Given the description of an element on the screen output the (x, y) to click on. 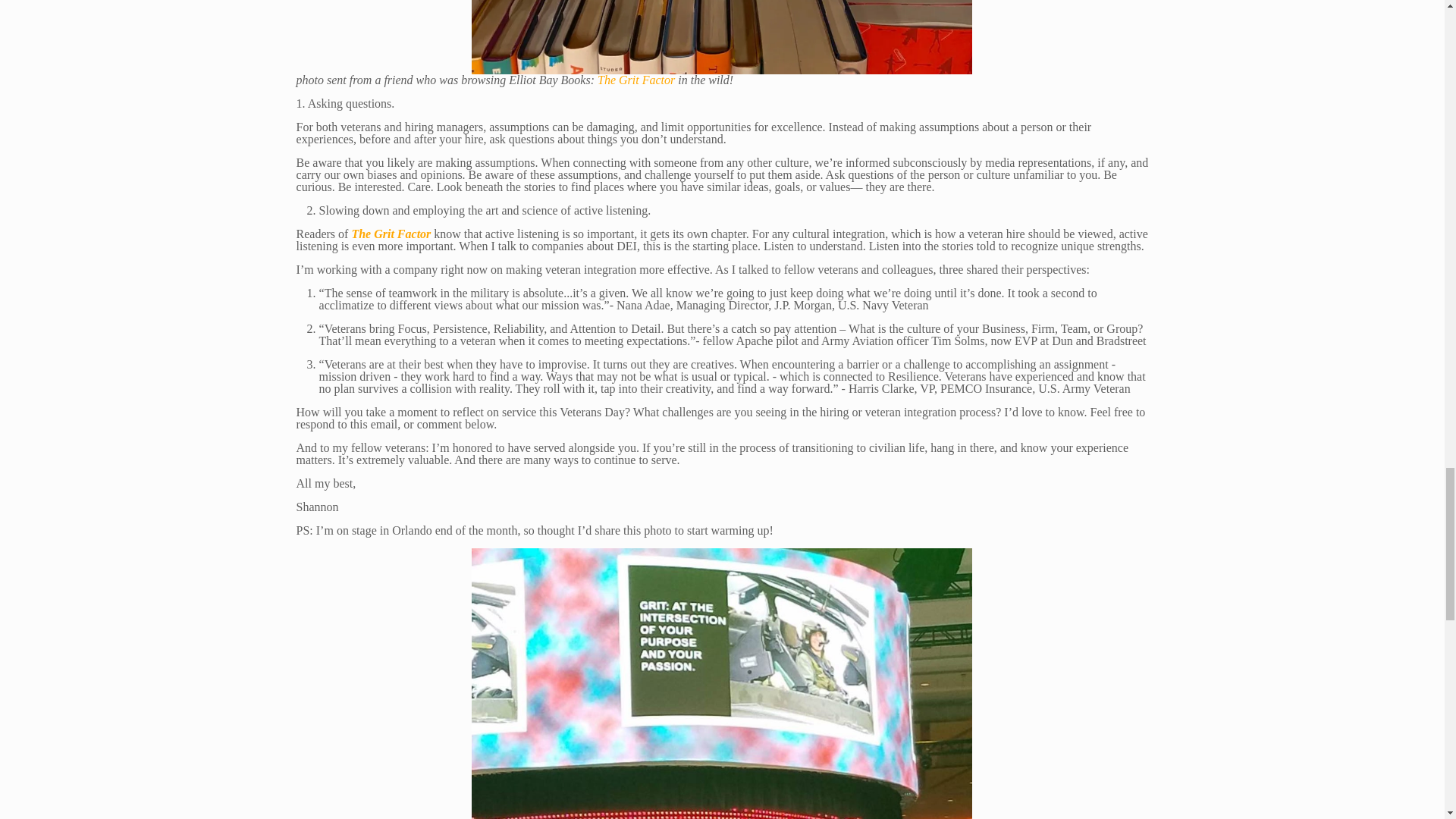
The Grit Factor (390, 233)
The Grit Factor (635, 79)
